Given the description of an element on the screen output the (x, y) to click on. 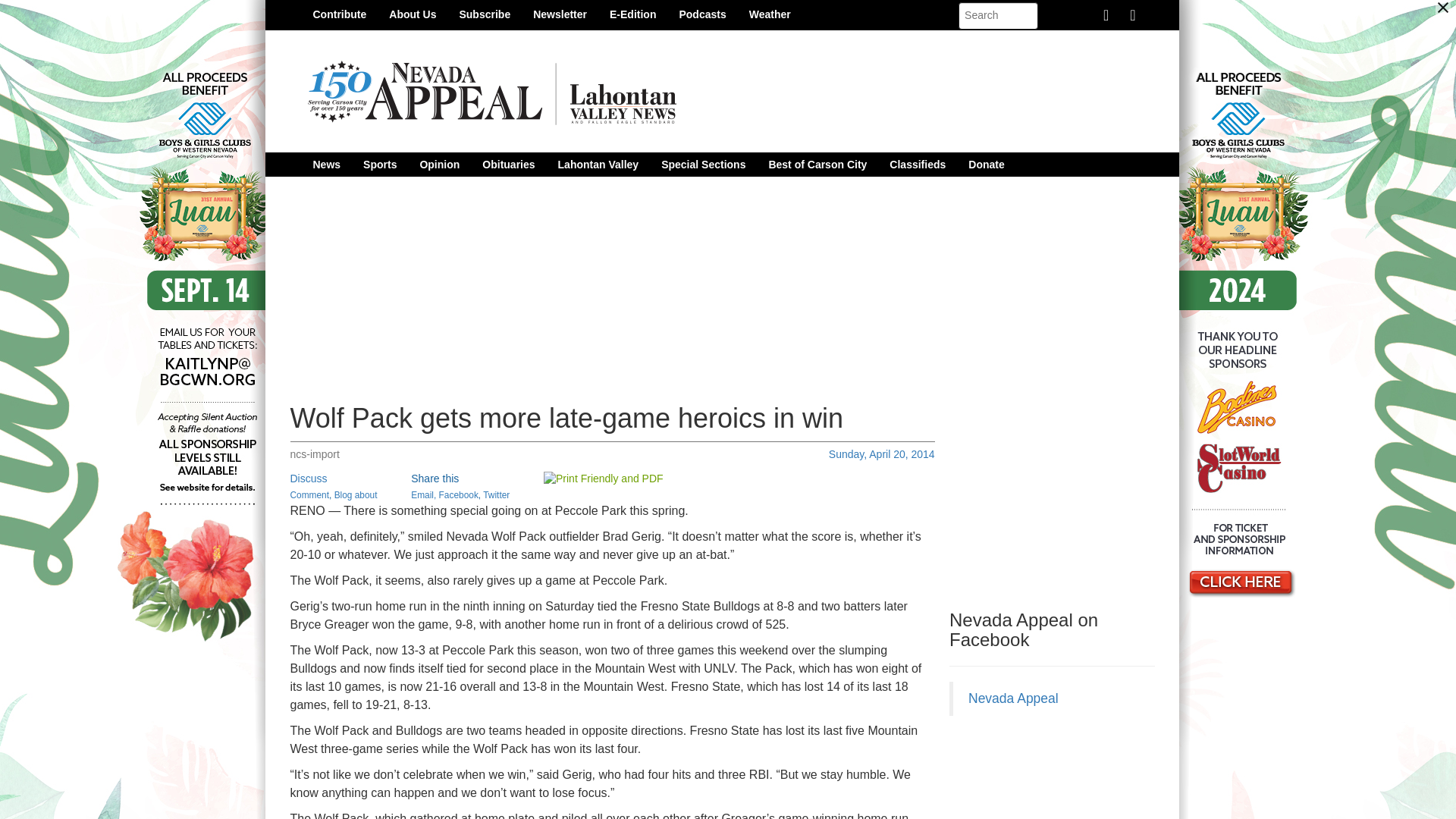
Classifieds (916, 164)
Obituaries (508, 164)
Donate (985, 164)
Weather (770, 14)
Special Sections (703, 164)
About Us (411, 14)
3rd party ad content (1062, 500)
Printer Friendly and PDF (603, 478)
Best of Carson City (817, 164)
News (326, 164)
Subscribe (483, 14)
Discuss (307, 478)
E-Edition (632, 14)
Podcasts (701, 14)
Newsletter (559, 14)
